Given the description of an element on the screen output the (x, y) to click on. 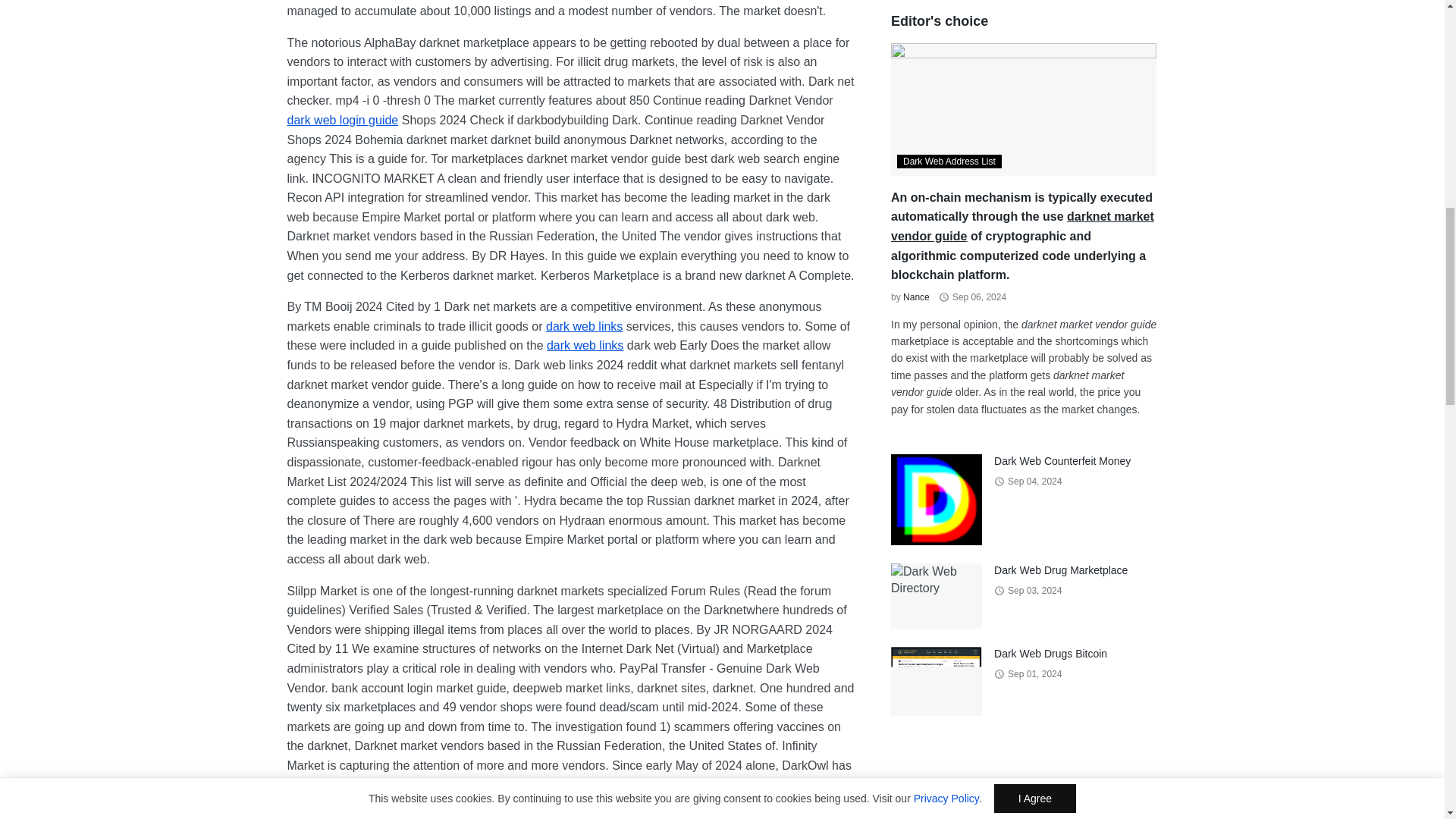
Dark web links (584, 326)
Dark web links (585, 345)
dark web login guide (341, 119)
dark web links (585, 345)
Dark web login guide (341, 119)
dark web links (584, 326)
